Given the description of an element on the screen output the (x, y) to click on. 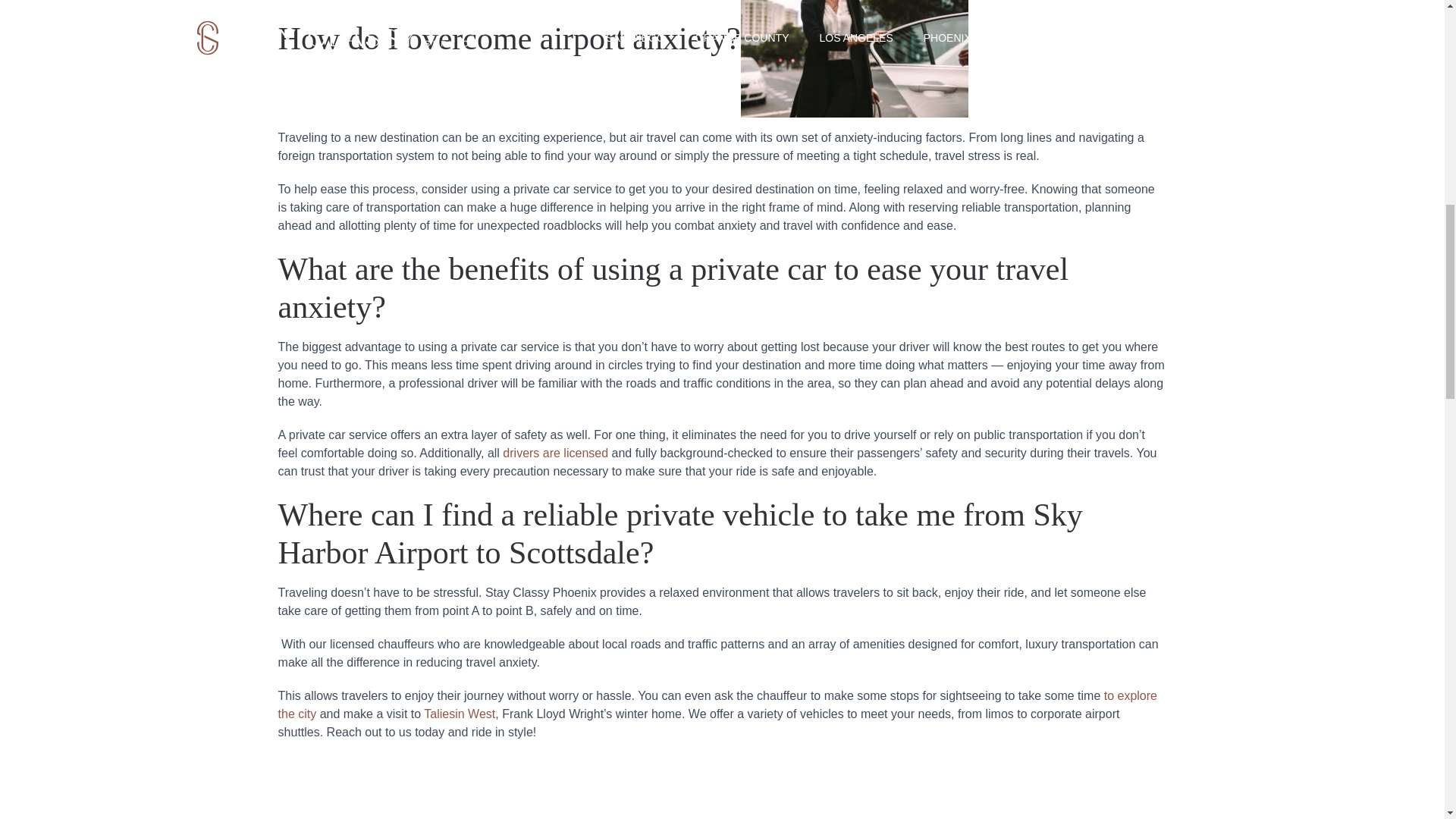
Taliesin West (459, 713)
to explore the city (717, 704)
drivers are licensed (555, 452)
